Given the description of an element on the screen output the (x, y) to click on. 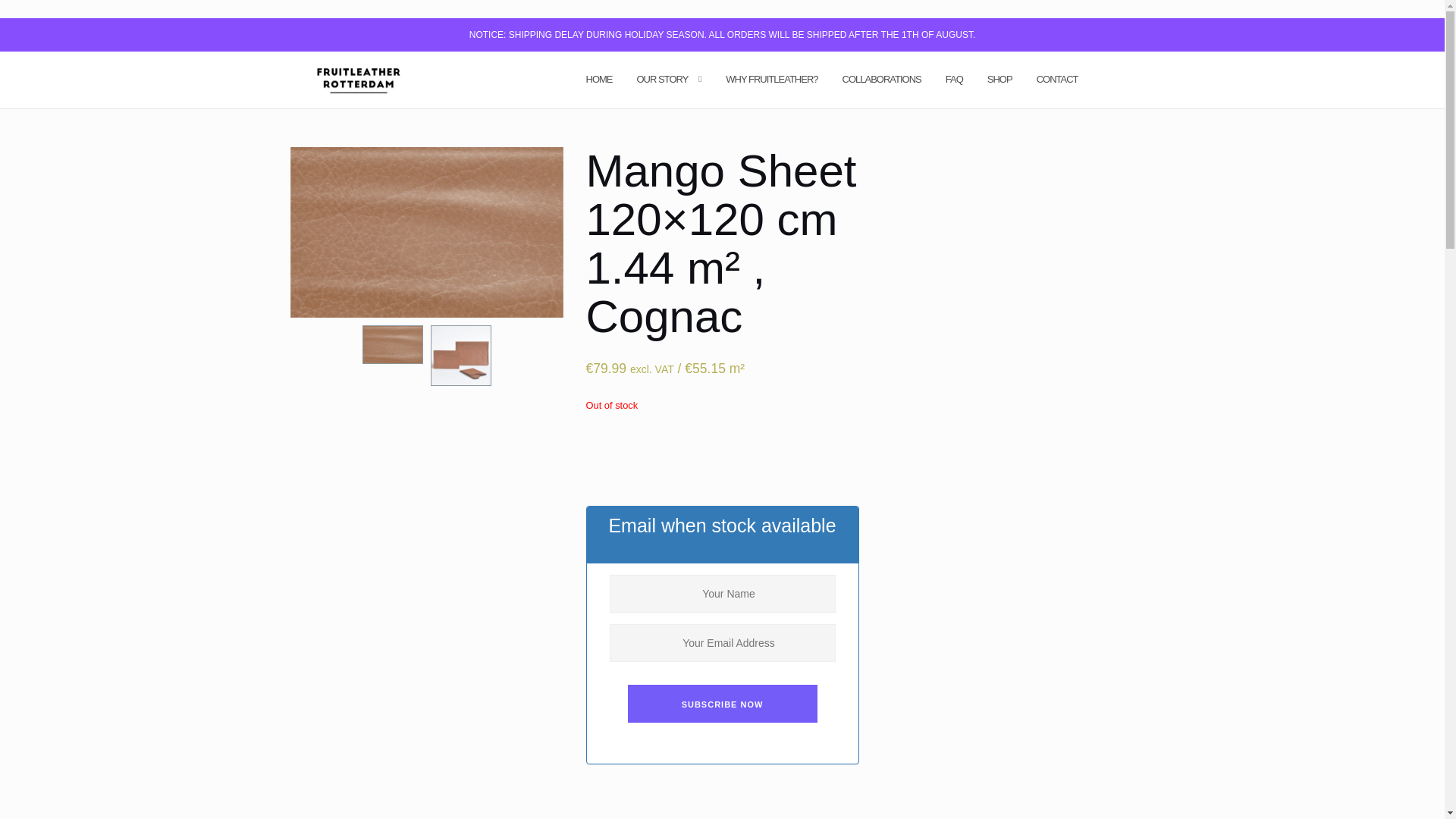
Why Fruitleather? (770, 79)
Subscribe Now (721, 703)
COLLABORATIONS (882, 79)
Contact (1057, 79)
SHOP (999, 79)
Subscribe Now (721, 703)
Shop (999, 79)
FAQ (953, 79)
HOME (598, 79)
CONTACT (1057, 79)
Collaborations (882, 79)
Our Story (662, 79)
WHY FRUITLEATHER? (770, 79)
Home (598, 79)
